Given the description of an element on the screen output the (x, y) to click on. 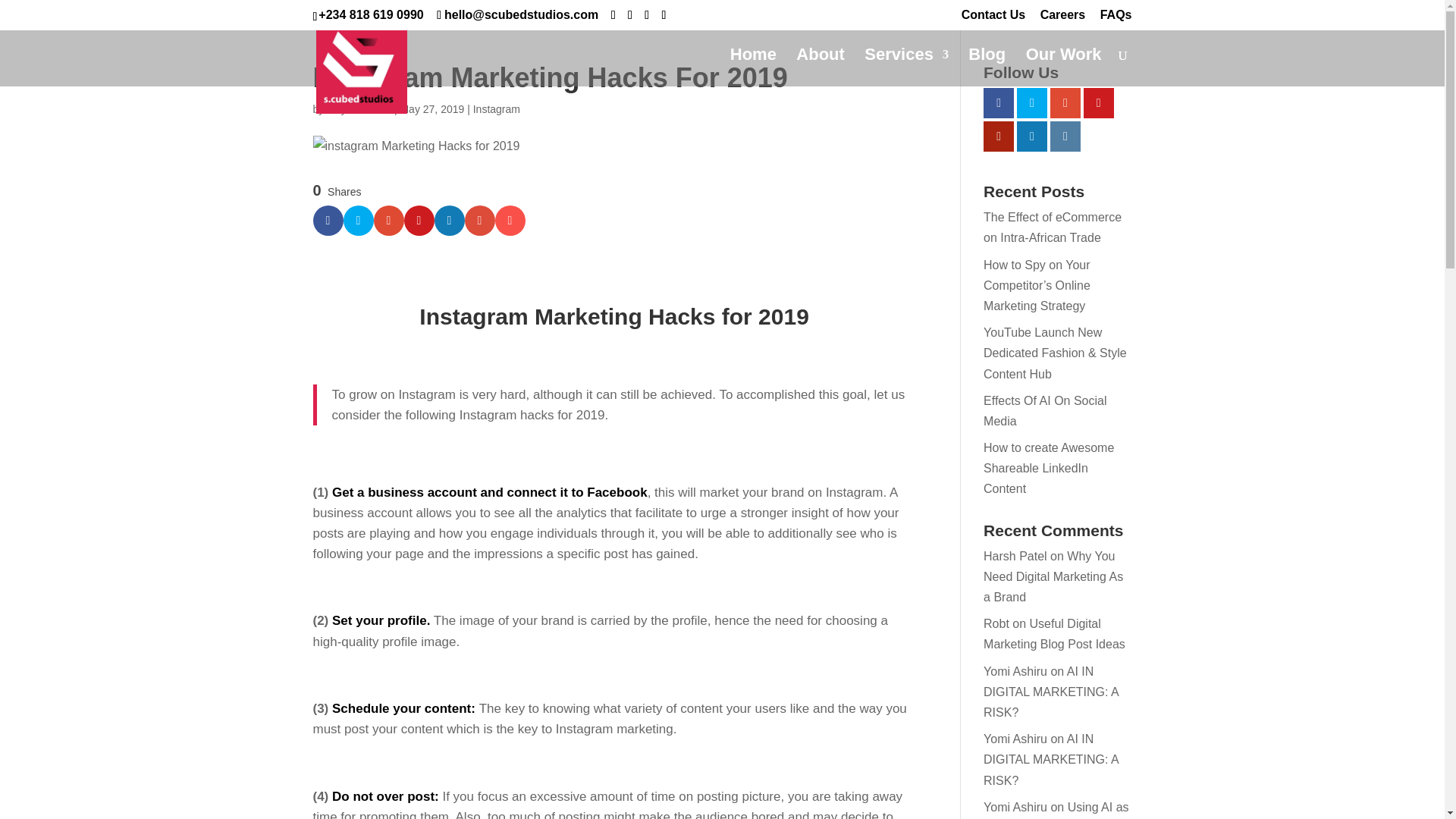
FAQs (1116, 19)
Instagram (496, 109)
Blog (987, 67)
Services (906, 67)
Posts by Onyia Ifeluwa (358, 109)
Careers (1063, 19)
About (820, 67)
Our Work (1064, 67)
Home (753, 67)
Contact Us (992, 19)
